Given the description of an element on the screen output the (x, y) to click on. 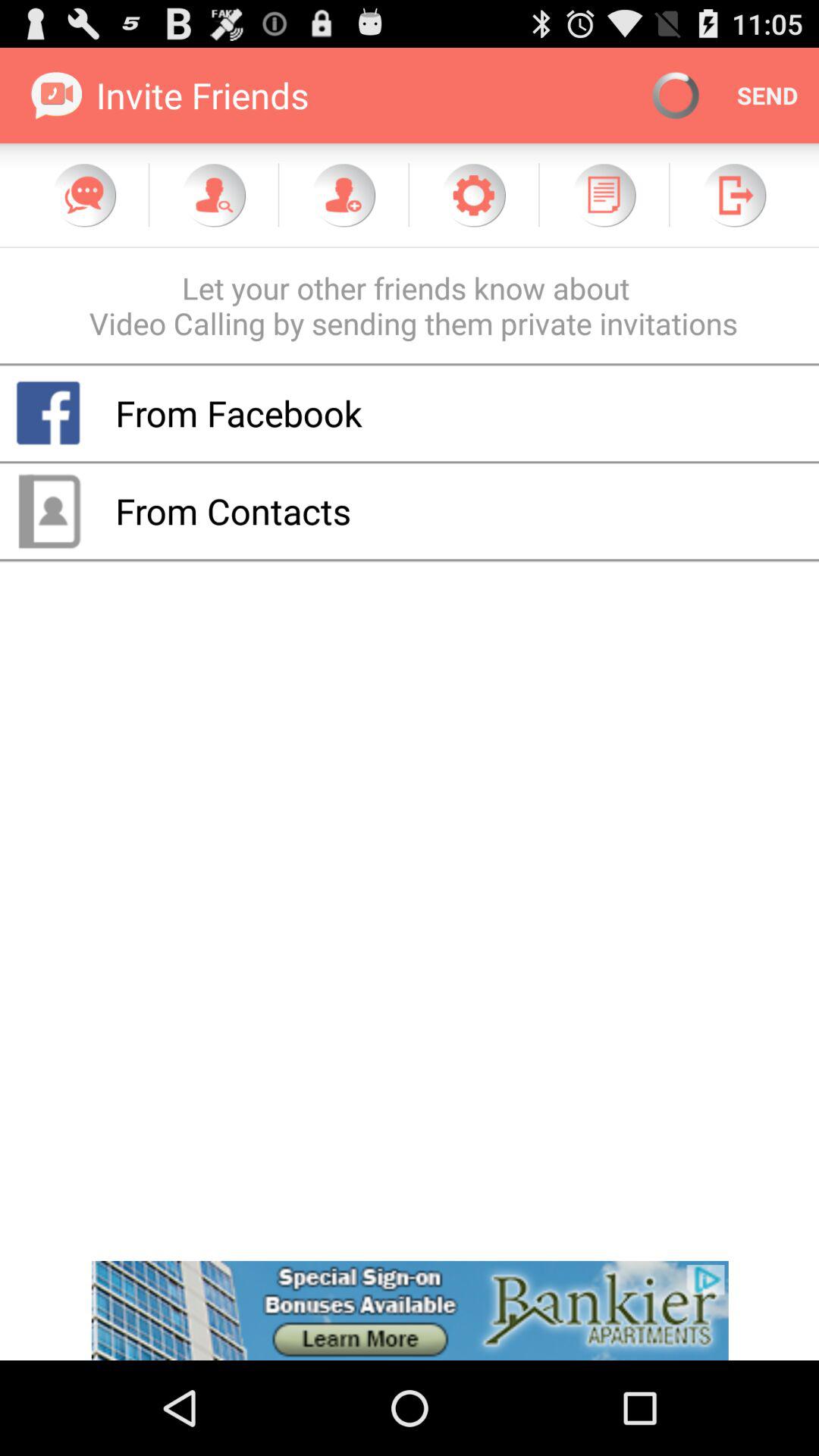
click to search the friends (213, 194)
